Given the description of an element on the screen output the (x, y) to click on. 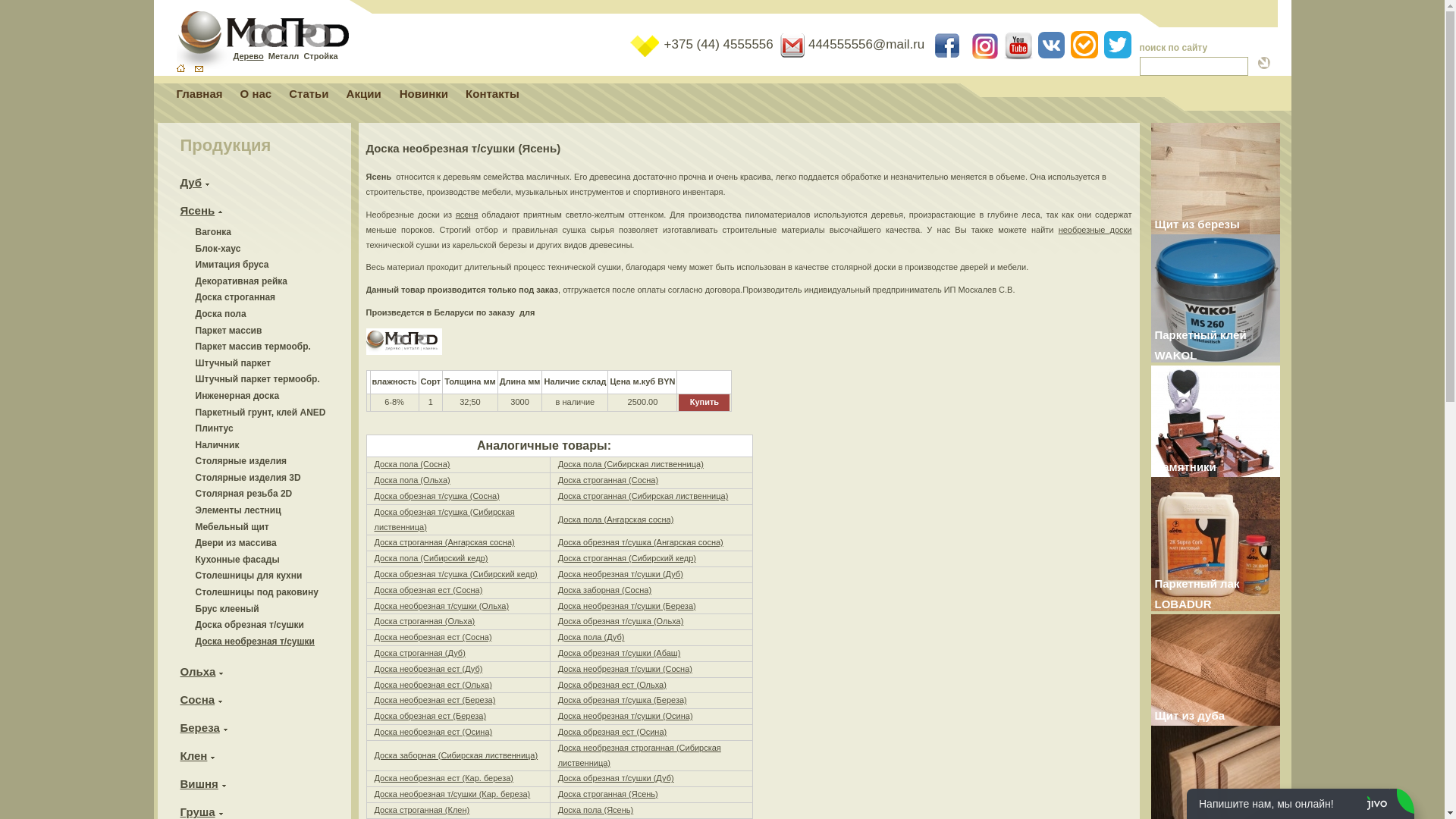
 444555556@mail.ru Element type: text (854, 44)
